Given the description of an element on the screen output the (x, y) to click on. 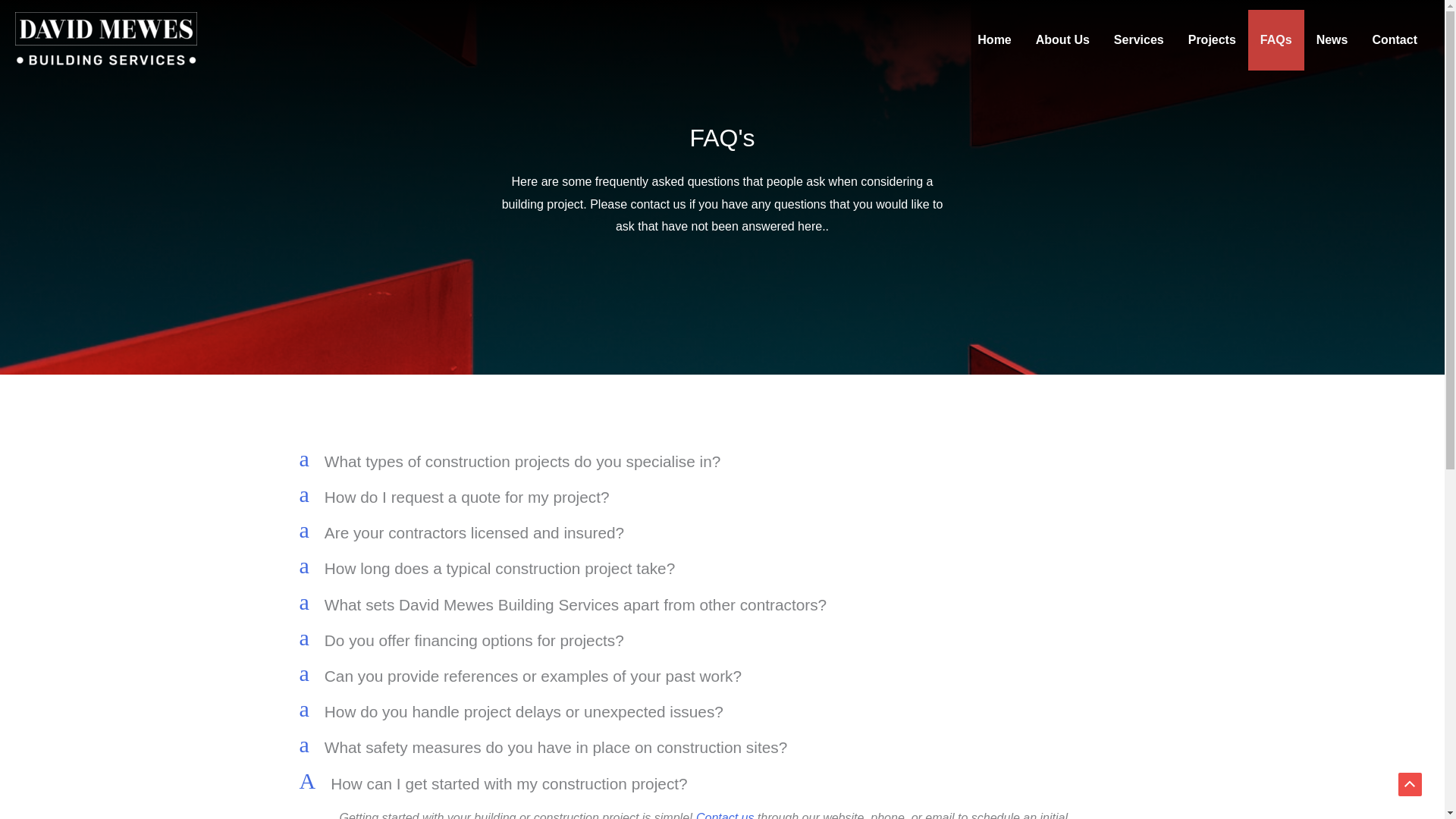
Projects (1211, 39)
News (1331, 39)
Scroll to Top (1409, 784)
Home (722, 783)
Contact (994, 39)
